Given the description of an element on the screen output the (x, y) to click on. 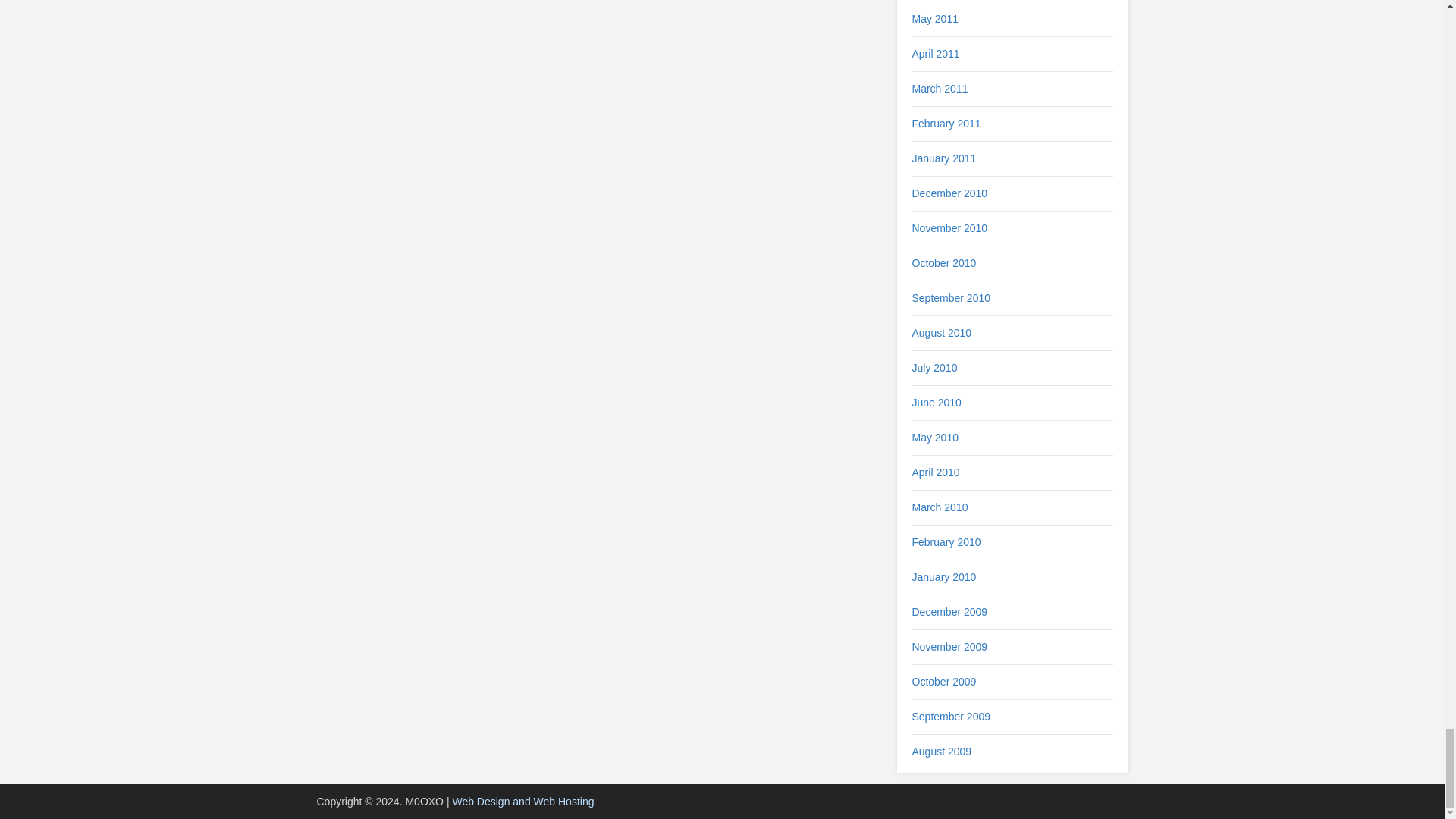
BarclayJames Web Design (522, 801)
